Given the description of an element on the screen output the (x, y) to click on. 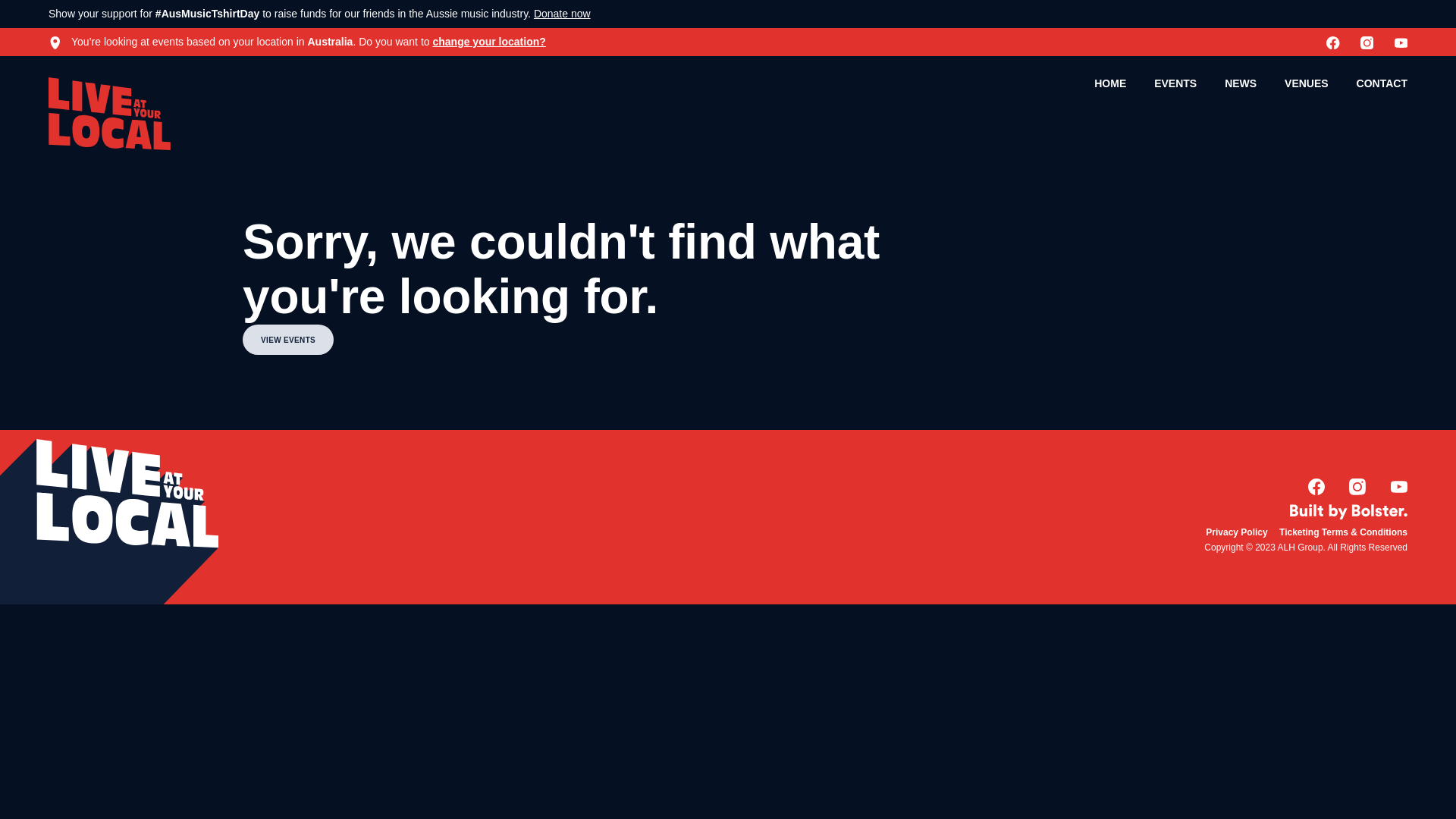
CONTACT Element type: text (1381, 83)
VIEW EVENTS Element type: text (287, 339)
VENUES Element type: text (1306, 83)
Donate now Element type: text (561, 13)
EVENTS Element type: text (1175, 83)
Ticketing Terms & Conditions Element type: text (1343, 532)
NEWS Element type: text (1240, 83)
Privacy Policy Element type: text (1236, 532)
HOME Element type: text (1110, 83)
